Given the description of an element on the screen output the (x, y) to click on. 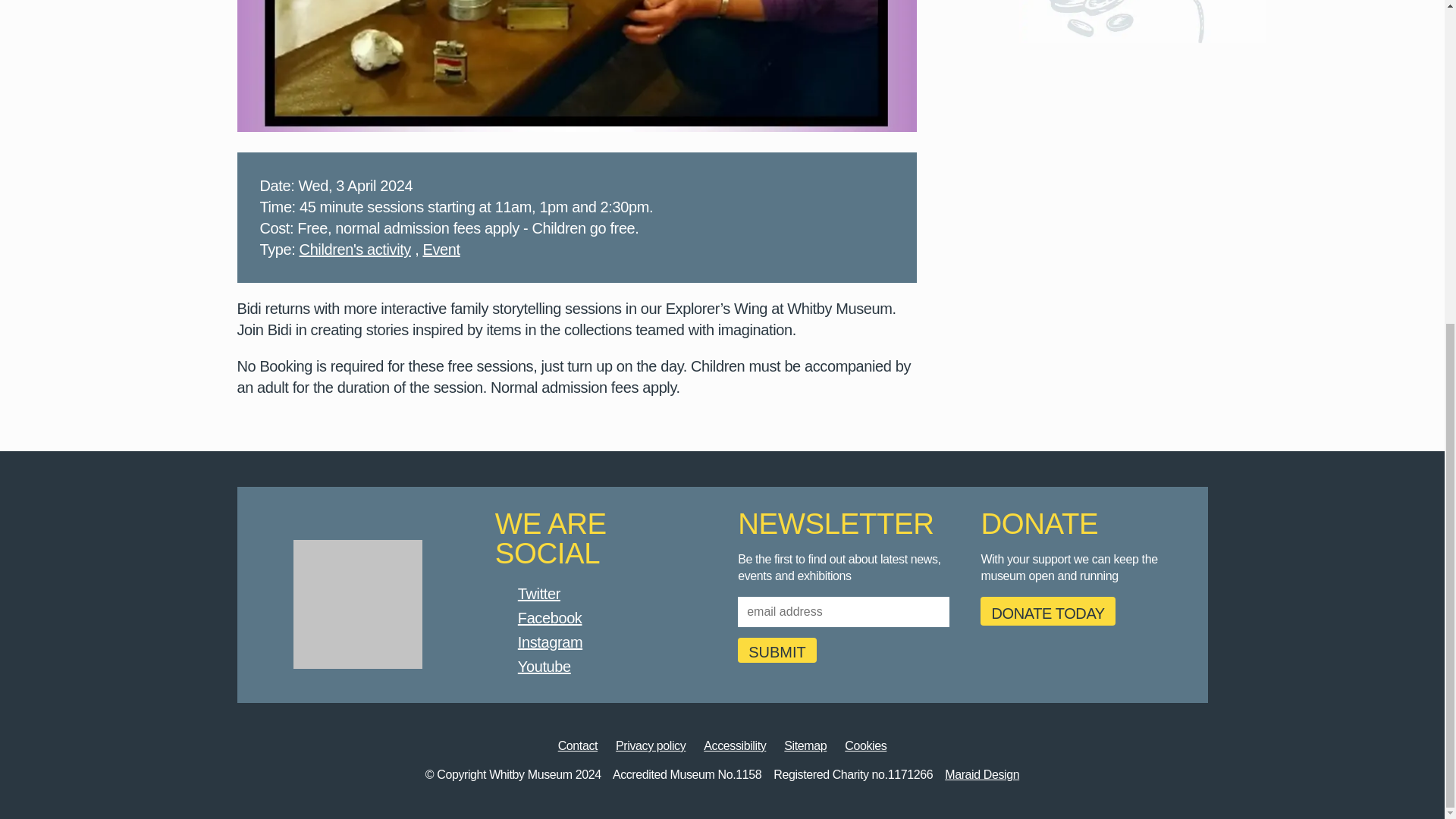
Facebook (550, 617)
Contact (577, 746)
Accessibility (734, 746)
Children's activity (354, 249)
Youtube (544, 666)
Sitemap (805, 746)
Event (441, 249)
Twitter (539, 593)
Submit (777, 650)
Submit (777, 650)
Cookies (865, 746)
Maraid Design (981, 774)
Privacy policy (650, 746)
Instagram (550, 641)
DONATE TODAY (1047, 611)
